Given the description of an element on the screen output the (x, y) to click on. 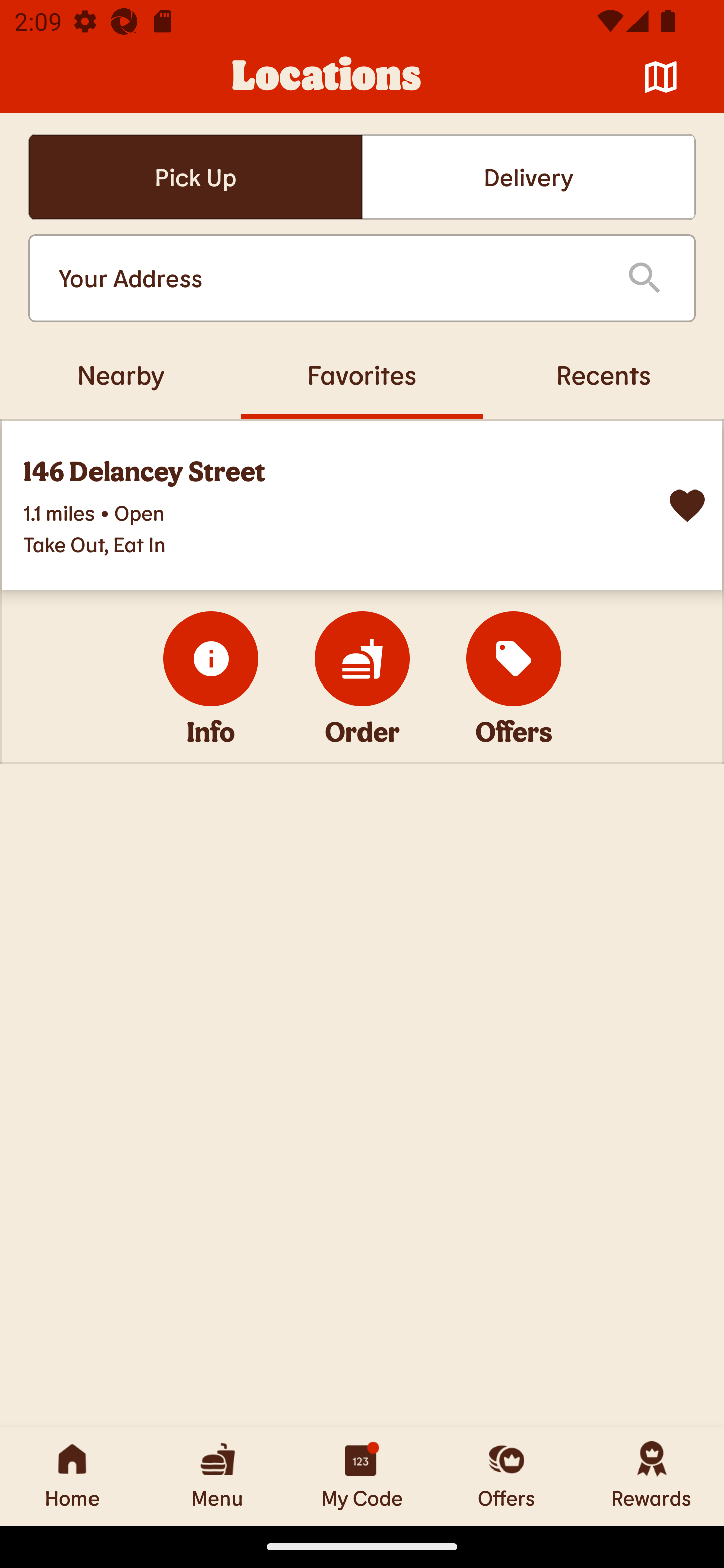
Map 󰦂 (660, 77)
Locations (326, 77)
Pick UpSelected Pick UpSelected Pick Up (195, 176)
Delivery Delivery Delivery (528, 176)
Your Address (327, 277)
Nearby (120, 374)
Favorites (361, 374)
Recents (603, 374)
Remove from Favorites?  (687, 505)
Info  (210, 658)
Order (361, 658)
Offers  (513, 658)
Home (72, 1475)
Menu (216, 1475)
My Code (361, 1475)
Offers (506, 1475)
Rewards (651, 1475)
